Given the description of an element on the screen output the (x, y) to click on. 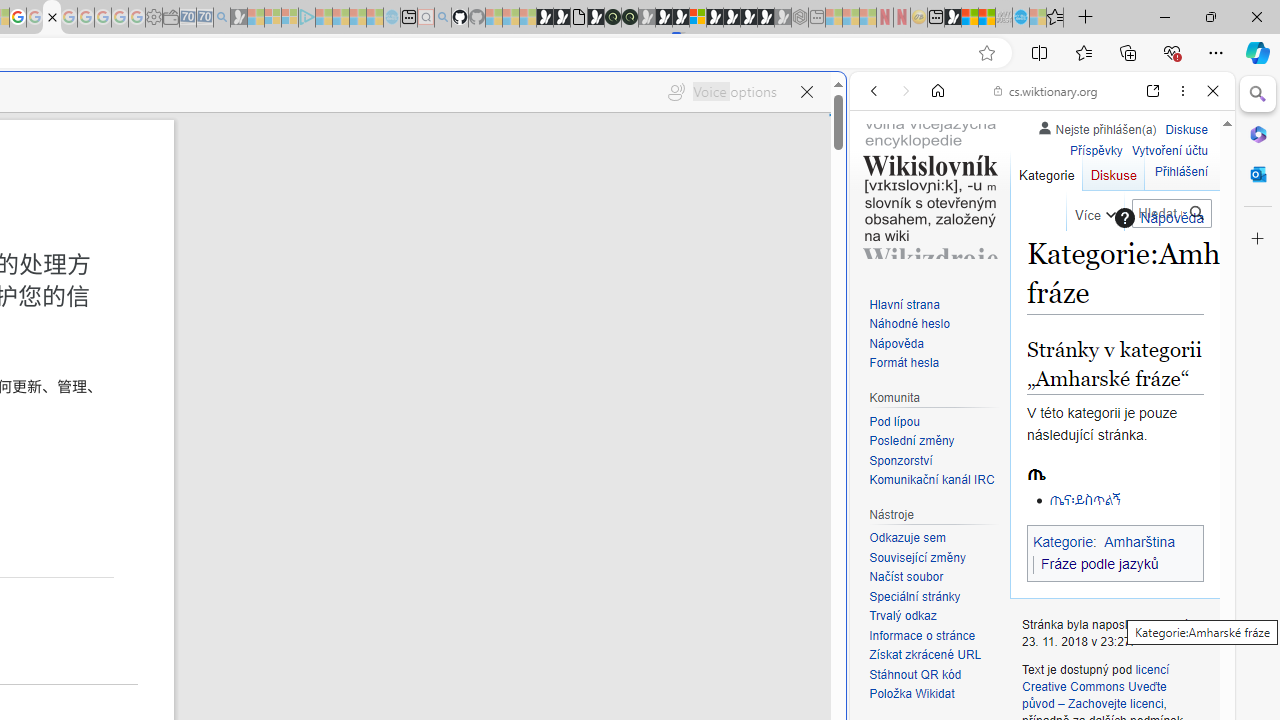
IMAGES (939, 228)
SEARCH TOOLS (1093, 228)
